Given the description of an element on the screen output the (x, y) to click on. 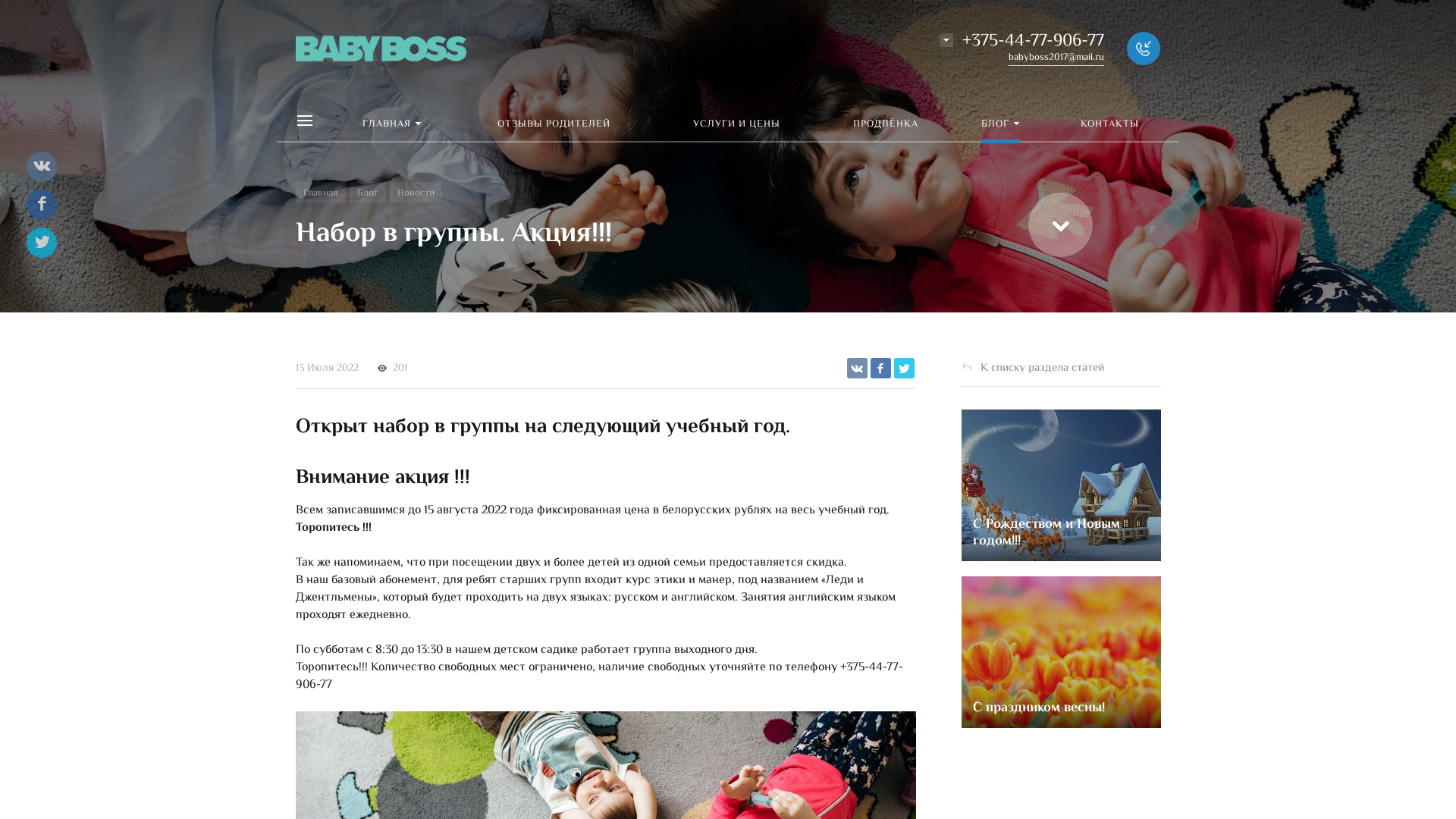
babyboss2017@mail.ru Element type: text (1056, 57)
